Given the description of an element on the screen output the (x, y) to click on. 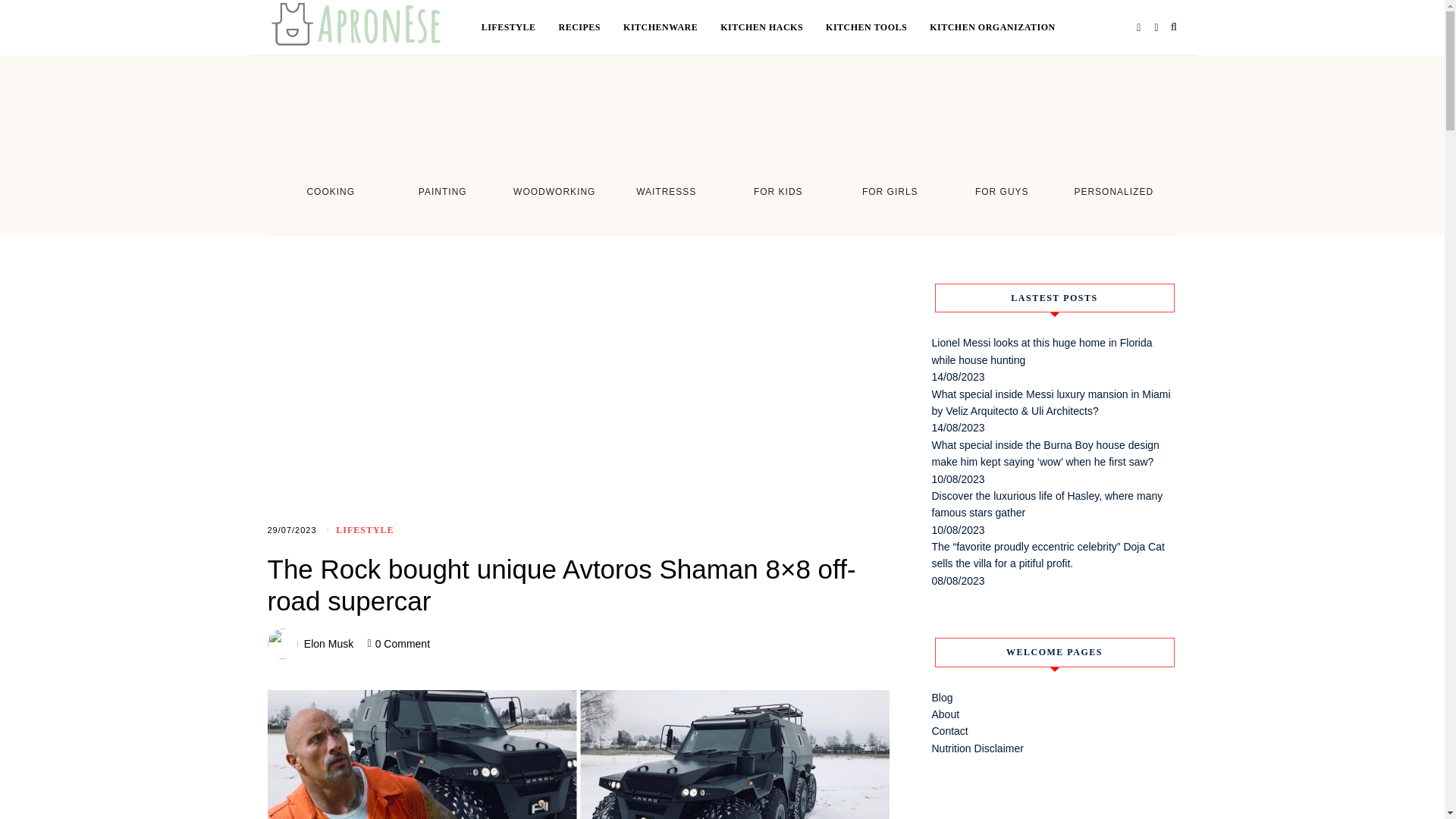
KITCHEN ORGANIZATION (992, 27)
KITCHENWARE (671, 27)
KITCHEN HACKS (772, 27)
Posts by Elon Musk (328, 644)
KITCHEN TOOLS (877, 27)
Elon Musk (328, 644)
LIFESTYLE (364, 529)
LIFESTYLE (520, 27)
RECIPES (591, 27)
0 Comment (402, 644)
